Given the description of an element on the screen output the (x, y) to click on. 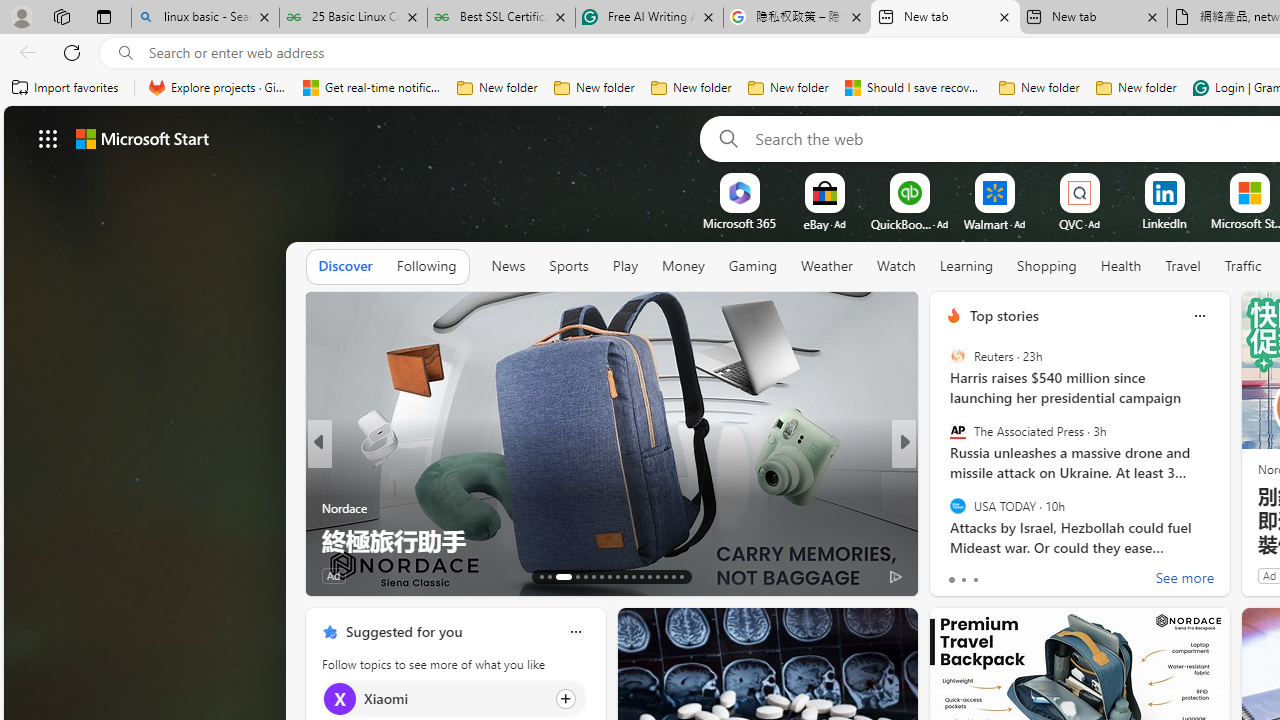
tab-2 (974, 579)
AutomationID: tab-25 (649, 576)
oceanbluemarine (982, 507)
INSIDER (944, 475)
Click to follow topic Xiaomi (453, 698)
AutomationID: tab-29 (681, 576)
